Given the description of an element on the screen output the (x, y) to click on. 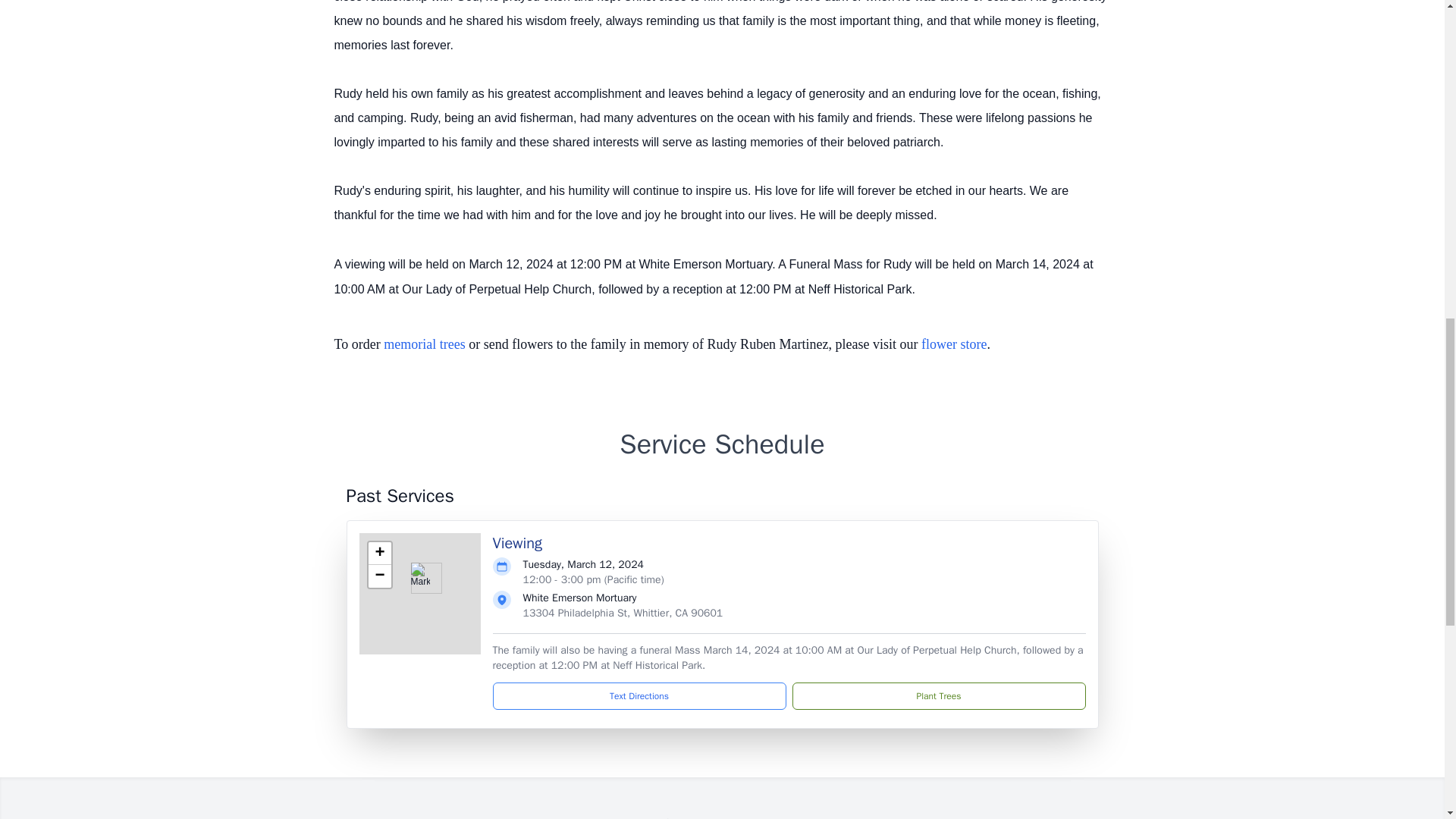
Text Directions (639, 696)
Zoom out (379, 576)
Plant Trees (938, 696)
flower store (954, 344)
13304 Philadelphia St, Whittier, CA 90601 (622, 612)
memorial trees (424, 344)
Zoom in (379, 553)
